Given the description of an element on the screen output the (x, y) to click on. 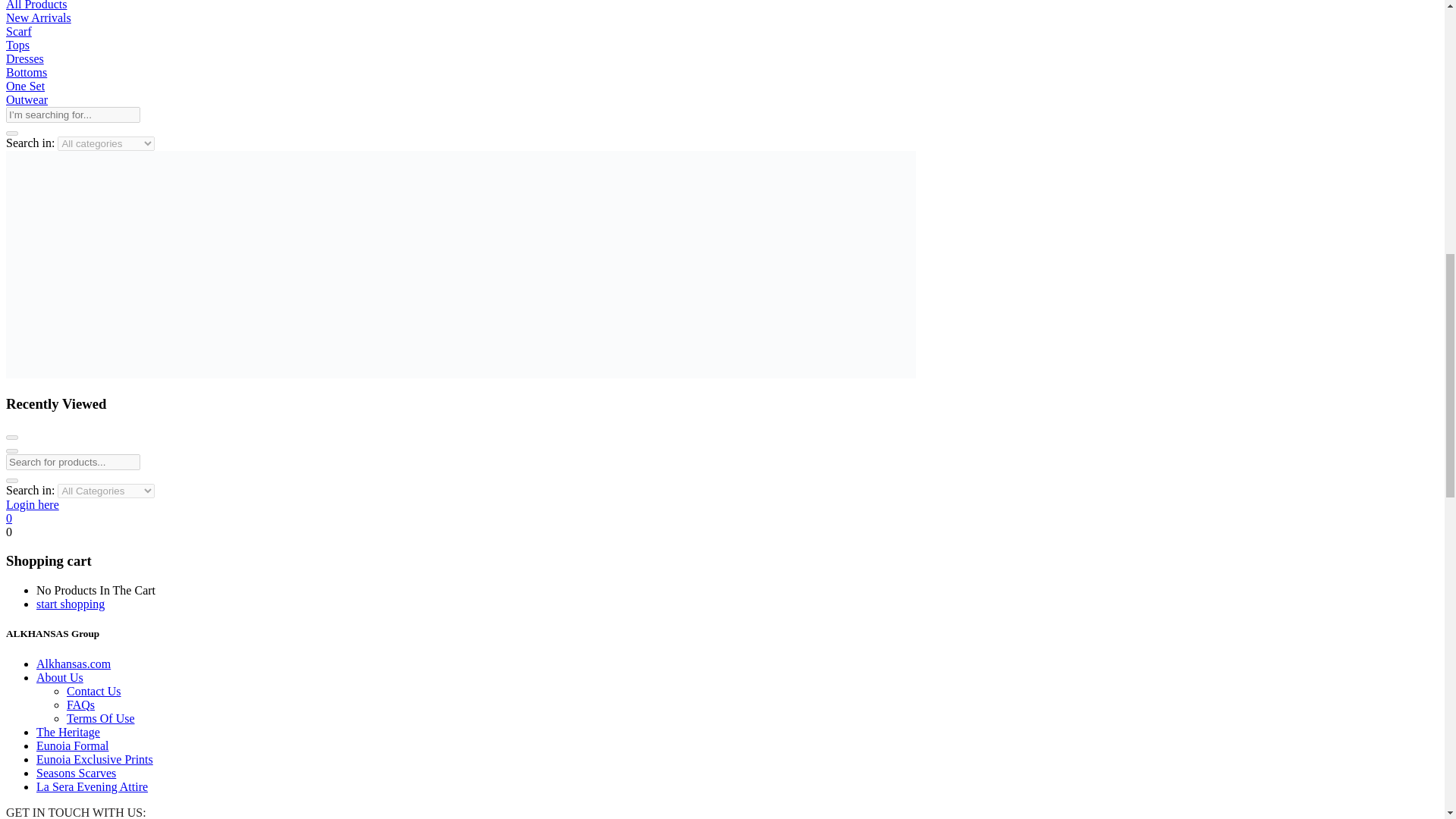
View your shopping cart (8, 531)
All Products (35, 5)
Tops (17, 44)
New Arrivals (38, 17)
Scarf (18, 31)
